Given the description of an element on the screen output the (x, y) to click on. 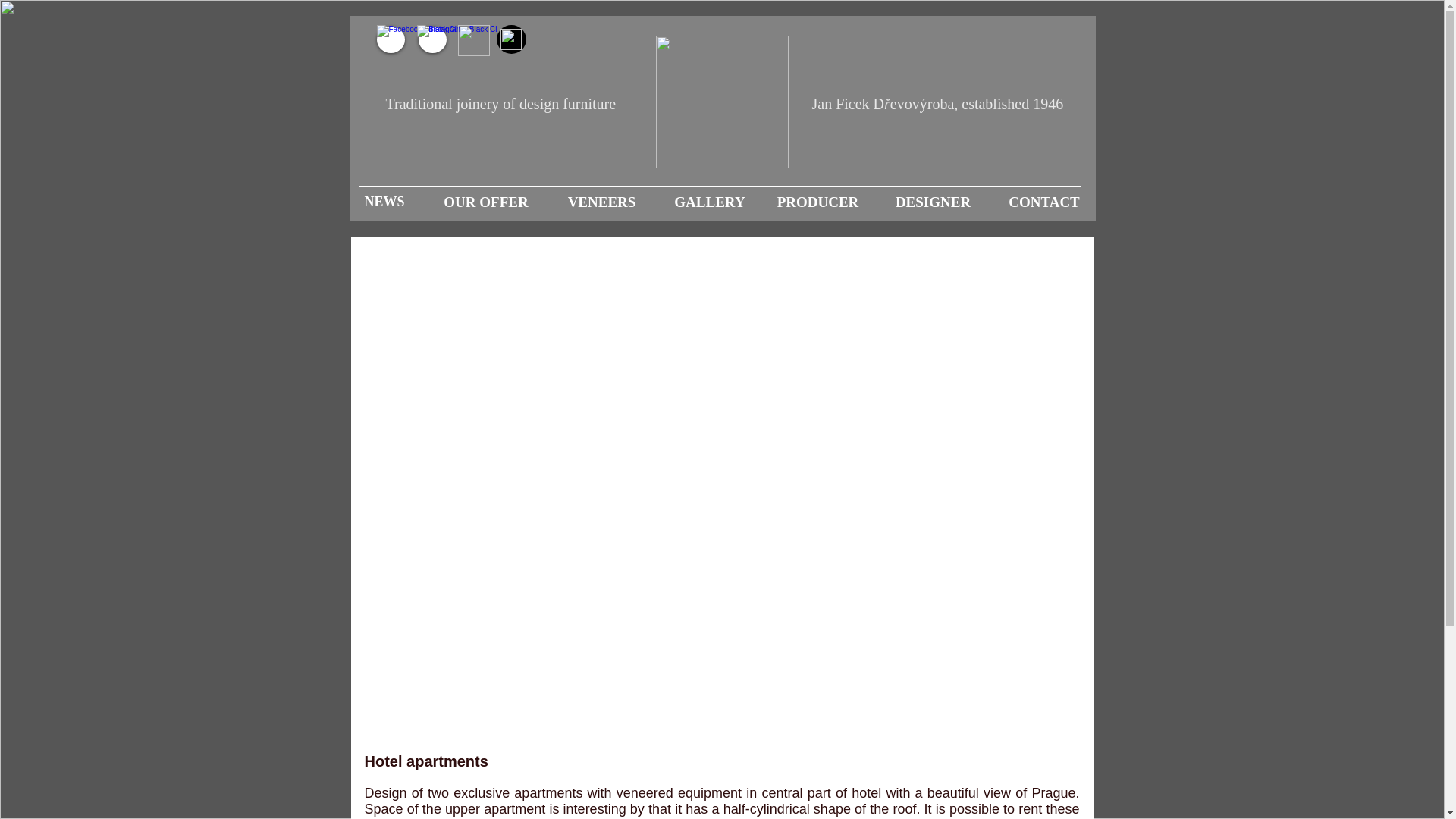
GALLERY (708, 202)
OUR OFFER (485, 202)
VENEERS (601, 202)
NEWS (384, 202)
PRODUCER (818, 202)
CONTACT (1043, 202)
DESIGNER (933, 202)
